Given the description of an element on the screen output the (x, y) to click on. 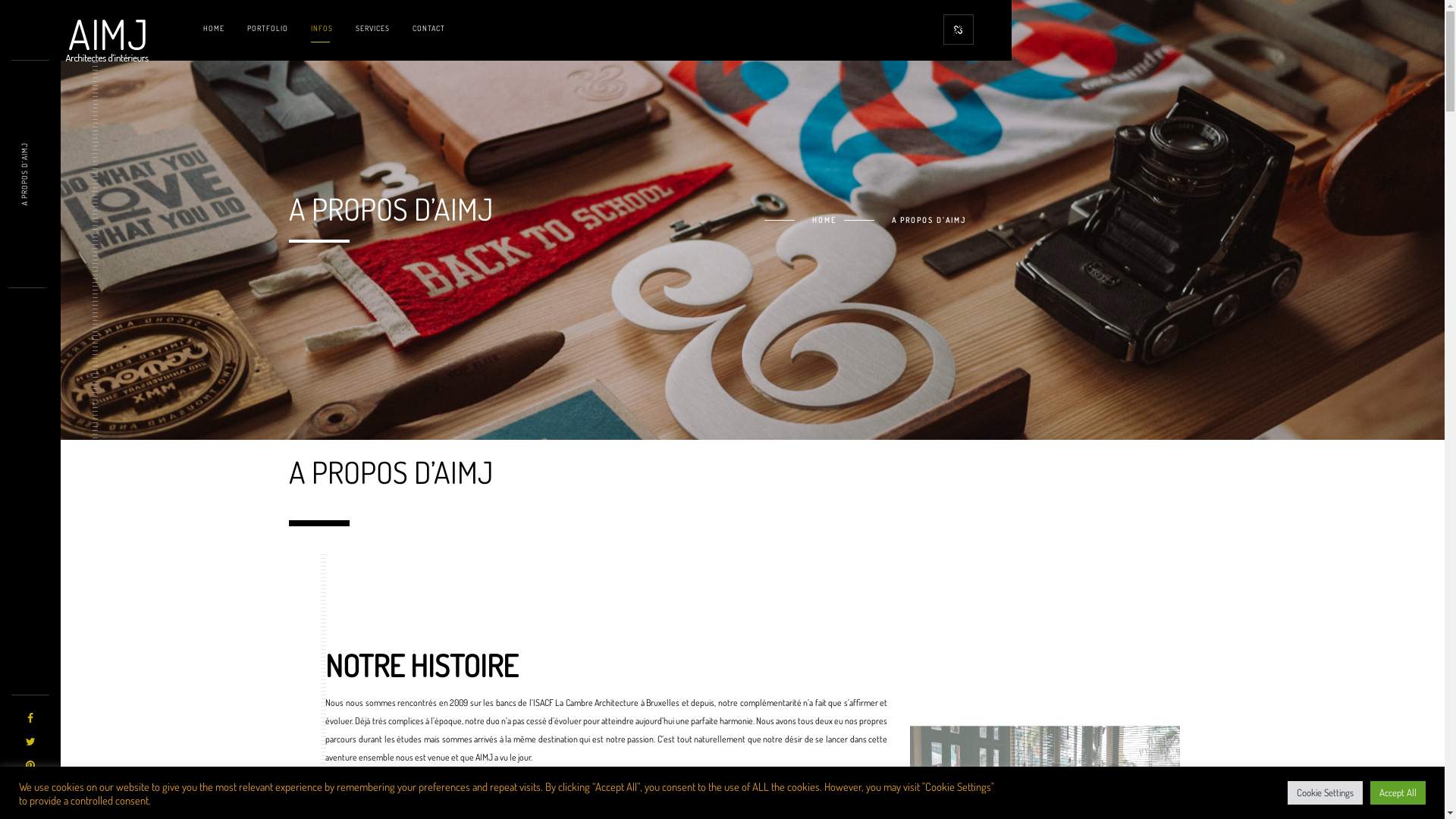
HOME Element type: text (213, 27)
CONTACT Element type: text (428, 27)
PORTFOLIO Element type: text (267, 27)
SERVICES Element type: text (372, 27)
Cookie Settings Element type: text (1324, 792)
INFO@AIMJ.BE Element type: text (937, 642)
+32485167729 Element type: text (937, 601)
MENTIONS LEGALES Element type: text (1050, 725)
+32477388445 Element type: text (937, 619)
GOOGLE MAPS Element type: text (1096, 632)
HOME Element type: text (800, 219)
Accept All Element type: text (1397, 792)
INFOS Element type: text (321, 27)
